Given the description of an element on the screen output the (x, y) to click on. 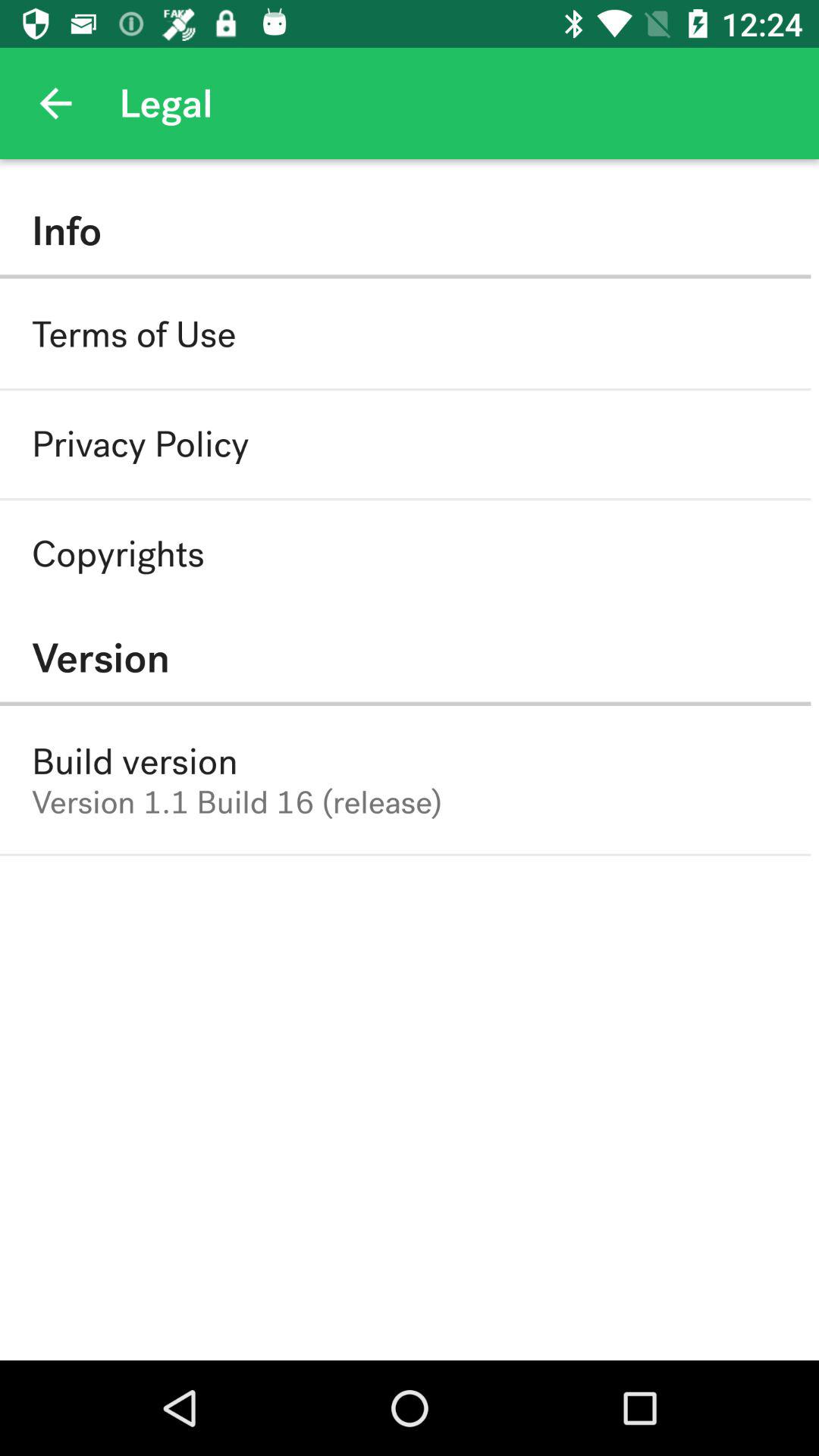
tap icon above the copyrights icon (140, 444)
